Given the description of an element on the screen output the (x, y) to click on. 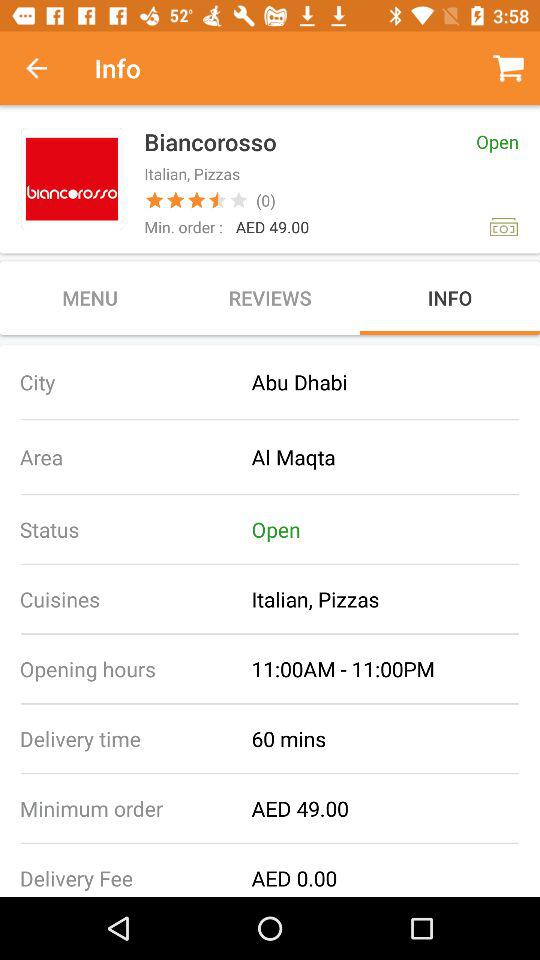
go to the info (450, 298)
